Given the description of an element on the screen output the (x, y) to click on. 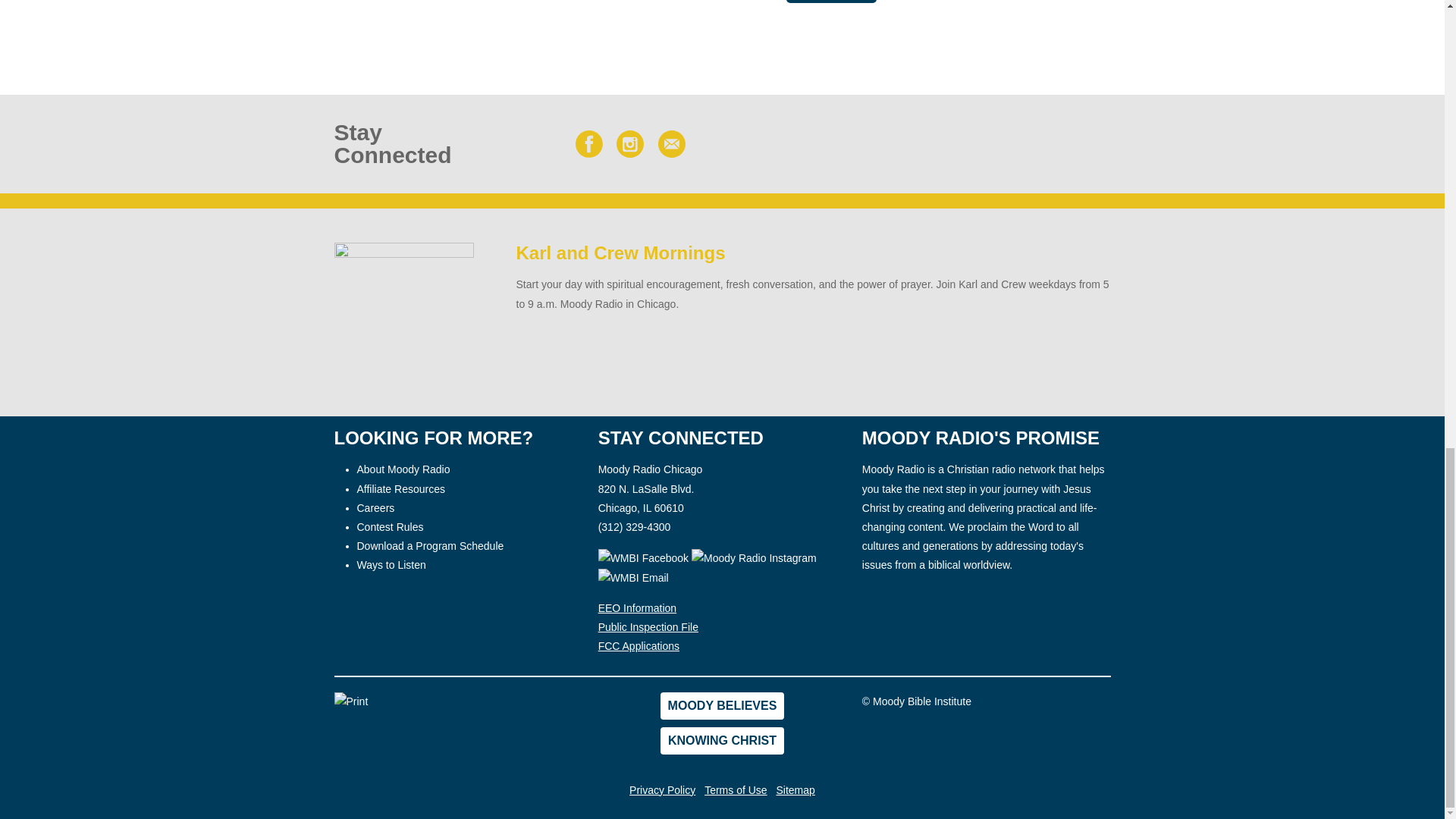
Moody Radio's Karl and Crew Instagram (755, 557)
Facebook (588, 144)
WMBI Facebook (643, 557)
Moody Radio Instagram (753, 558)
Instragram (629, 144)
WMBI Email (633, 578)
Email (671, 144)
